Given the description of an element on the screen output the (x, y) to click on. 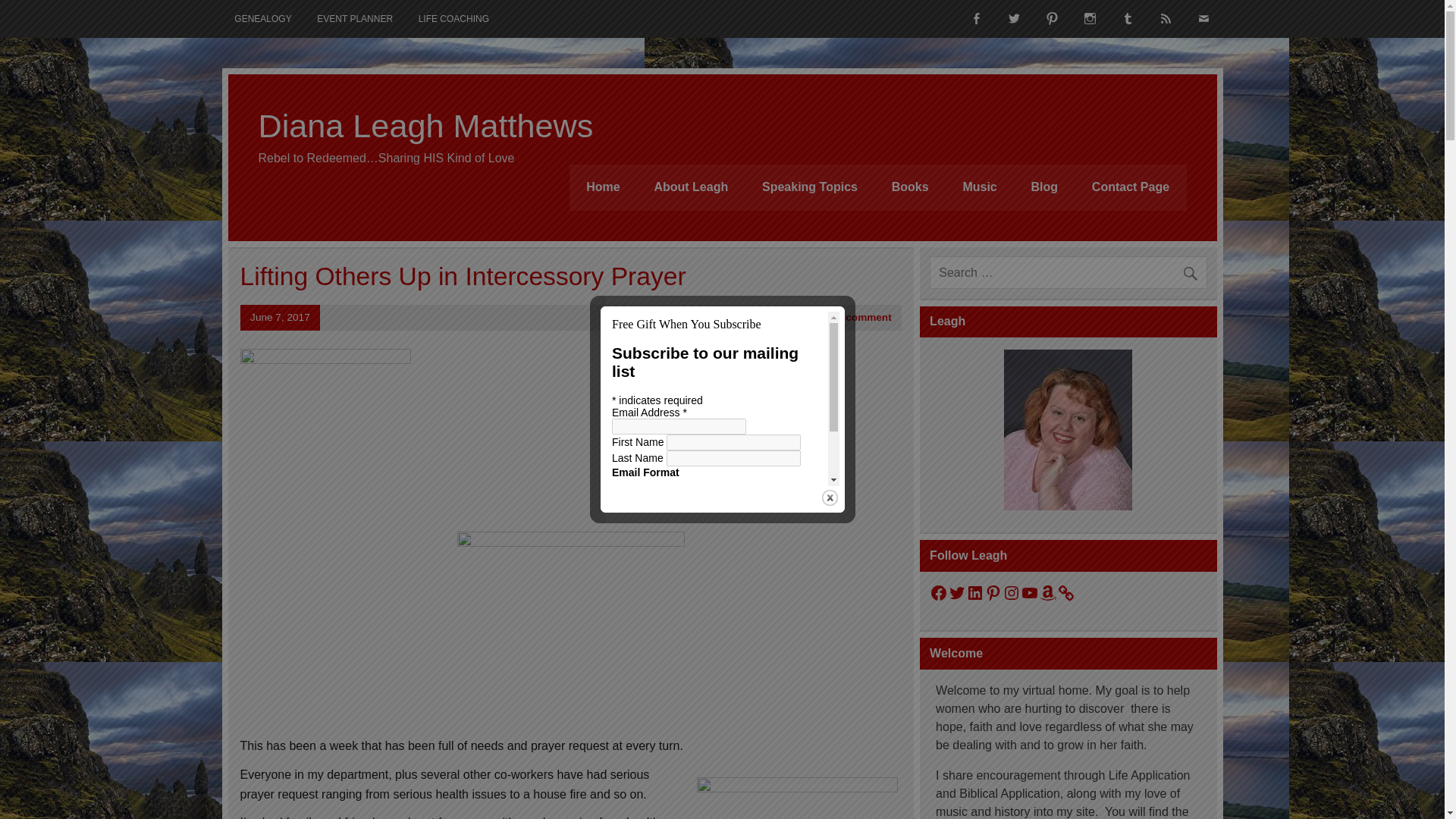
EVENT PLANNER (354, 18)
About Leagh (691, 187)
LIFE COACHING (454, 18)
7:49 am (280, 317)
GENEALOGY (262, 18)
Home (603, 187)
Speaking Topics (810, 187)
Diana Leagh Matthews (424, 125)
